Given the description of an element on the screen output the (x, y) to click on. 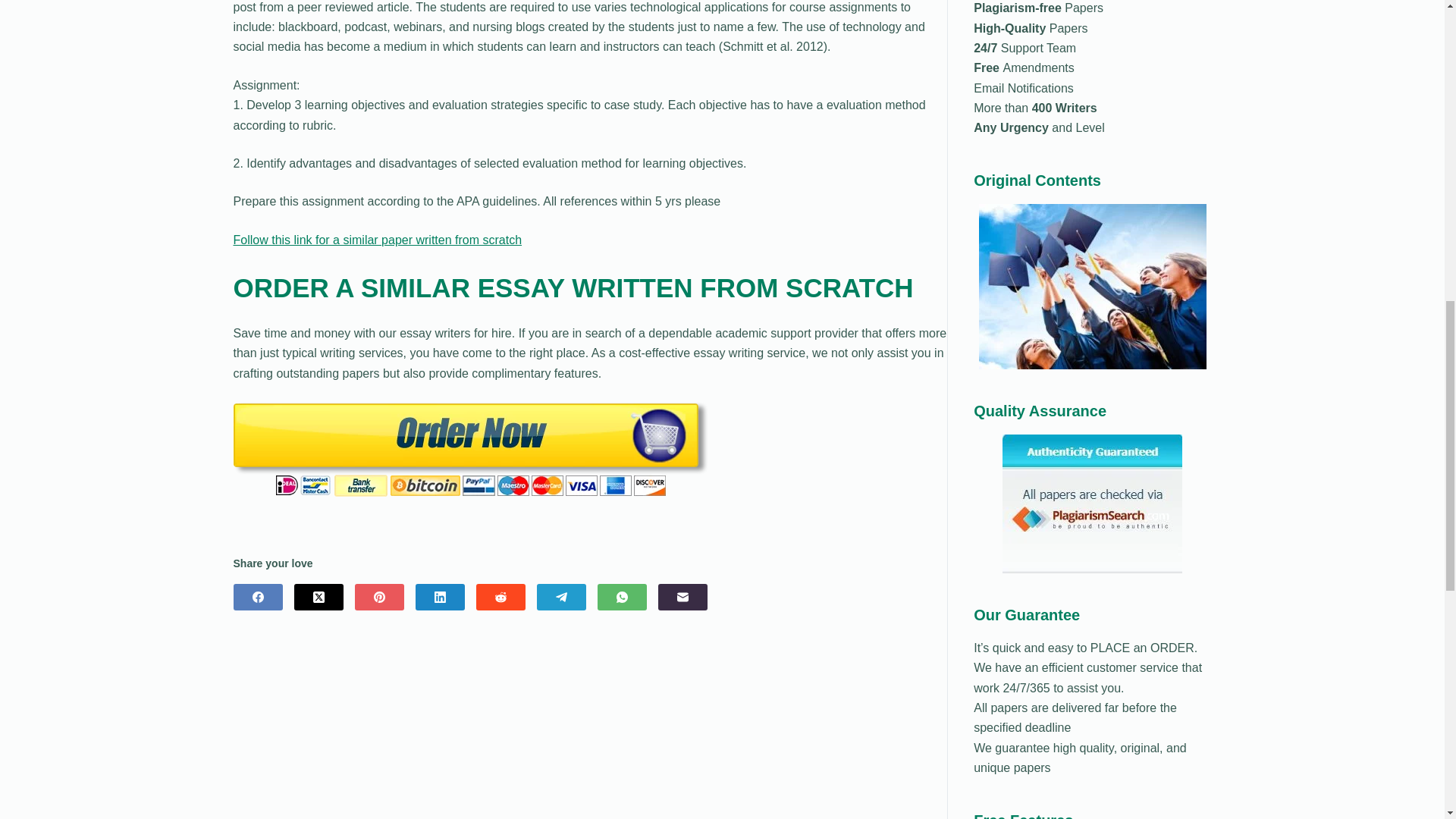
Follow this link for a similar paper written from scratch (377, 239)
PLACE an ORDER. (1141, 647)
